Given the description of an element on the screen output the (x, y) to click on. 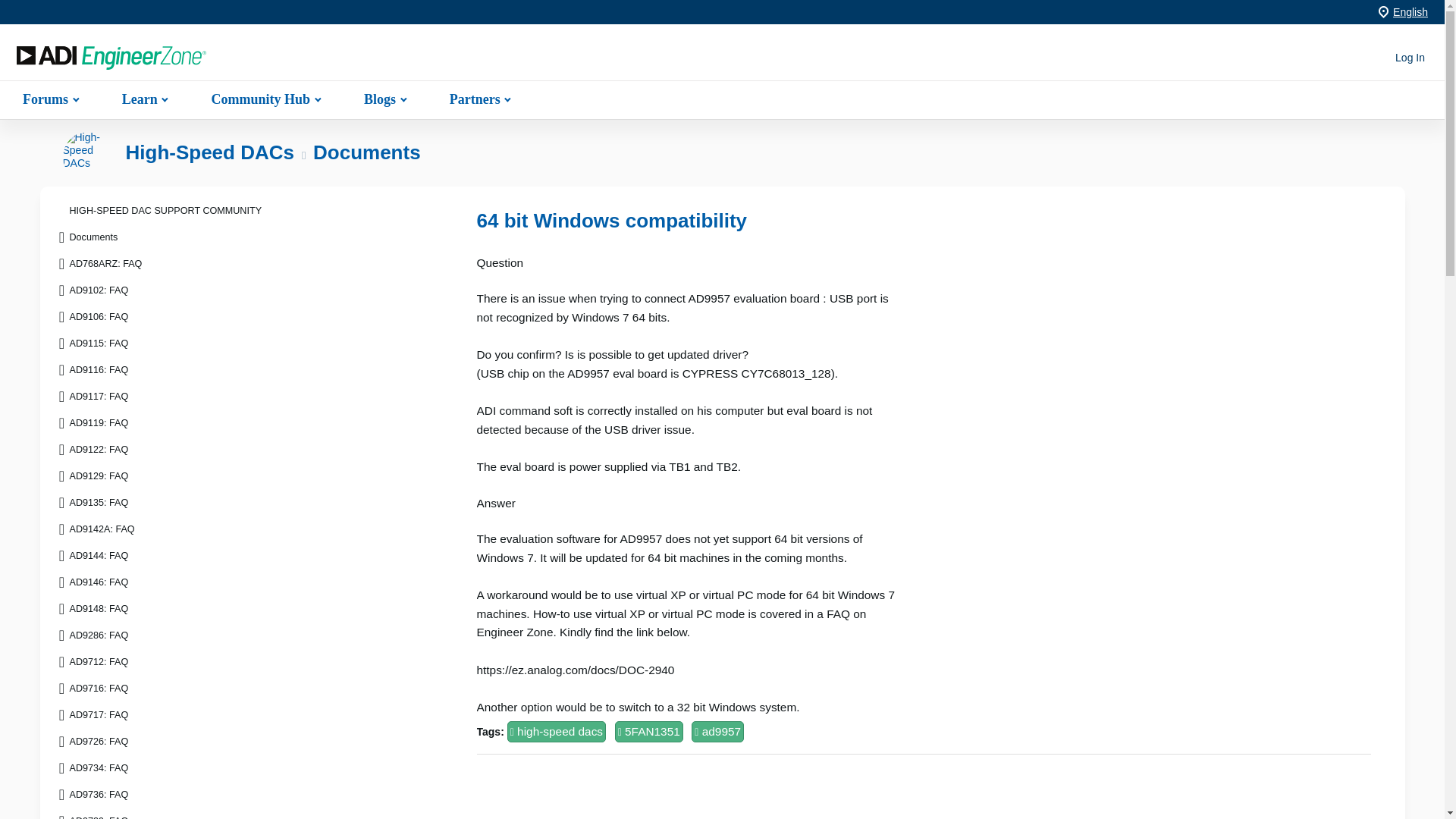
Join or sign in (1409, 57)
Log In (1409, 57)
English (1410, 11)
Forums (49, 98)
Home (111, 57)
